Given the description of an element on the screen output the (x, y) to click on. 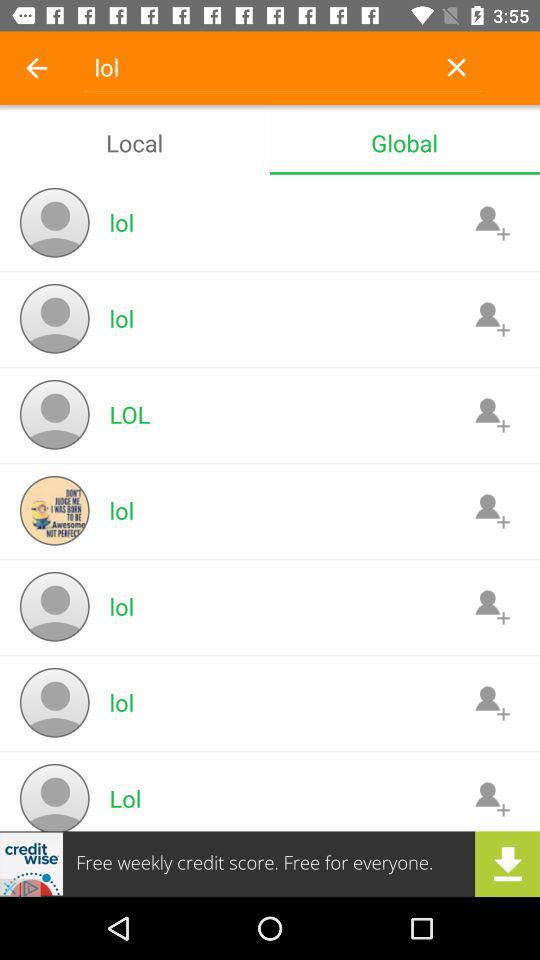
load advert (270, 864)
